Given the description of an element on the screen output the (x, y) to click on. 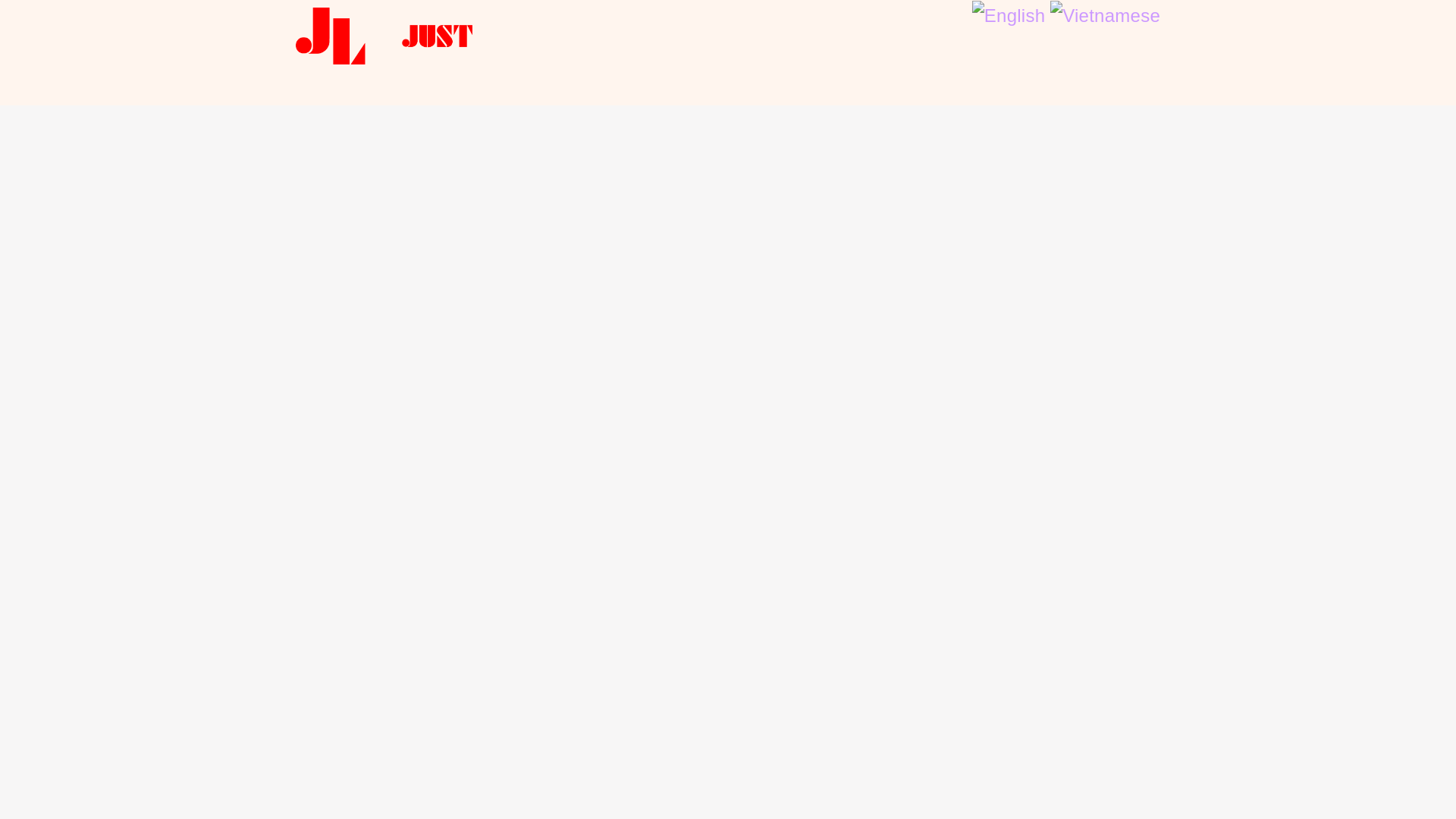
English (1010, 14)
Vietnamese (1104, 14)
